Given the description of an element on the screen output the (x, y) to click on. 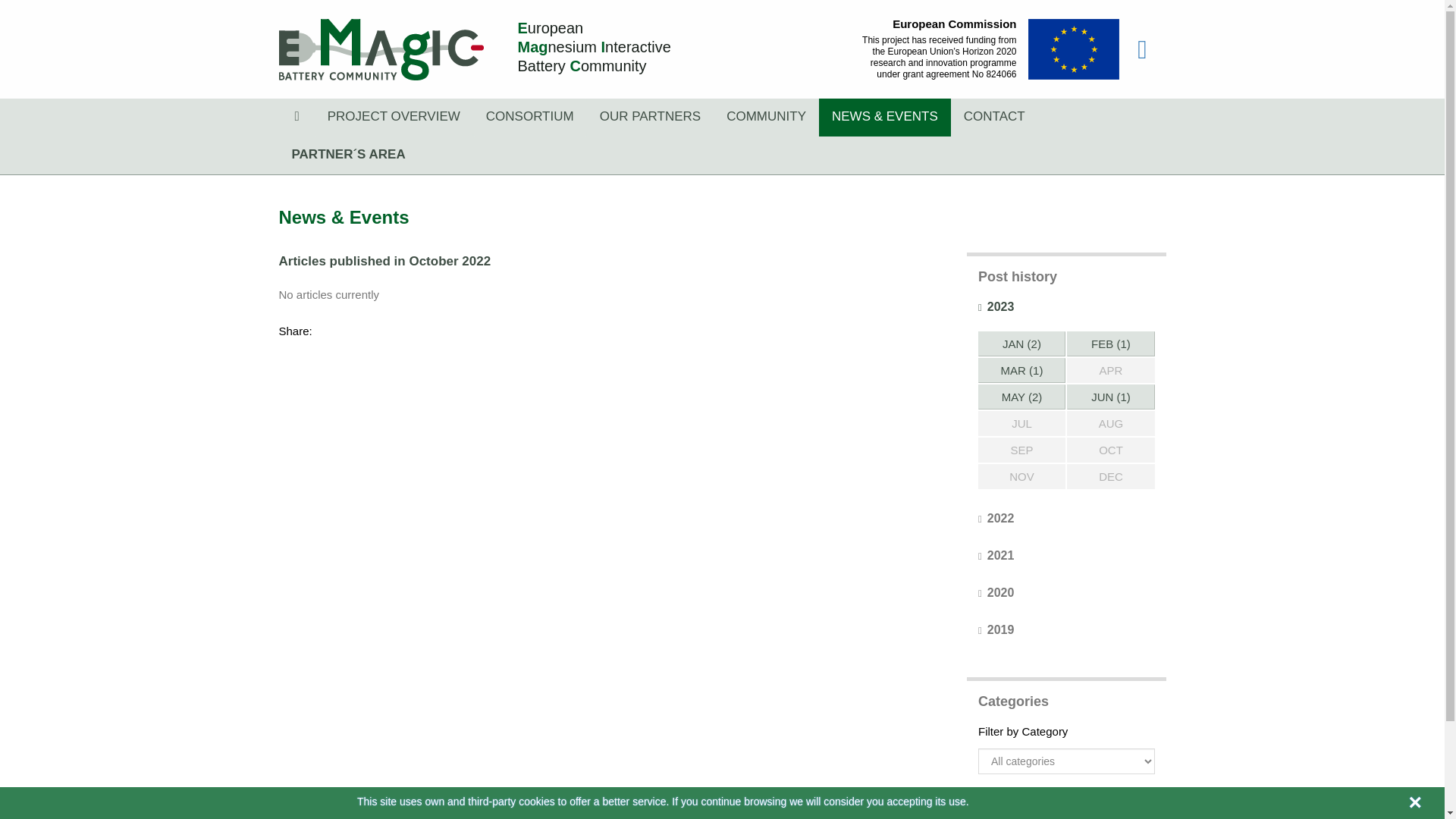
PROJECT OVERVIEW (393, 117)
CONTACT (994, 117)
COMMUNITY (765, 117)
CONSORTIUM (529, 117)
OUR PARTNERS (650, 117)
